Given the description of an element on the screen output the (x, y) to click on. 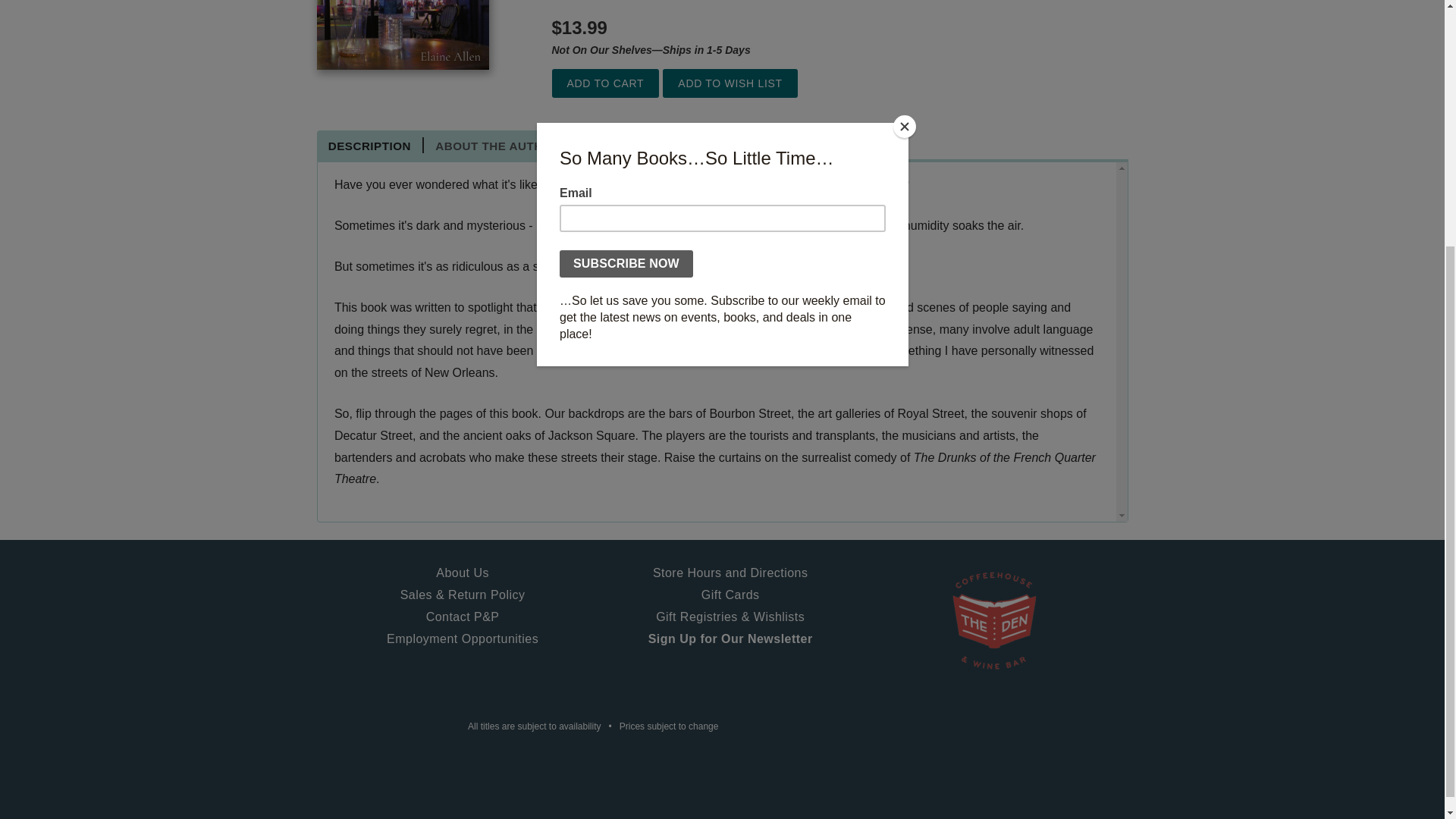
Add to Cart (605, 83)
Add to Wish List (729, 83)
